Given the description of an element on the screen output the (x, y) to click on. 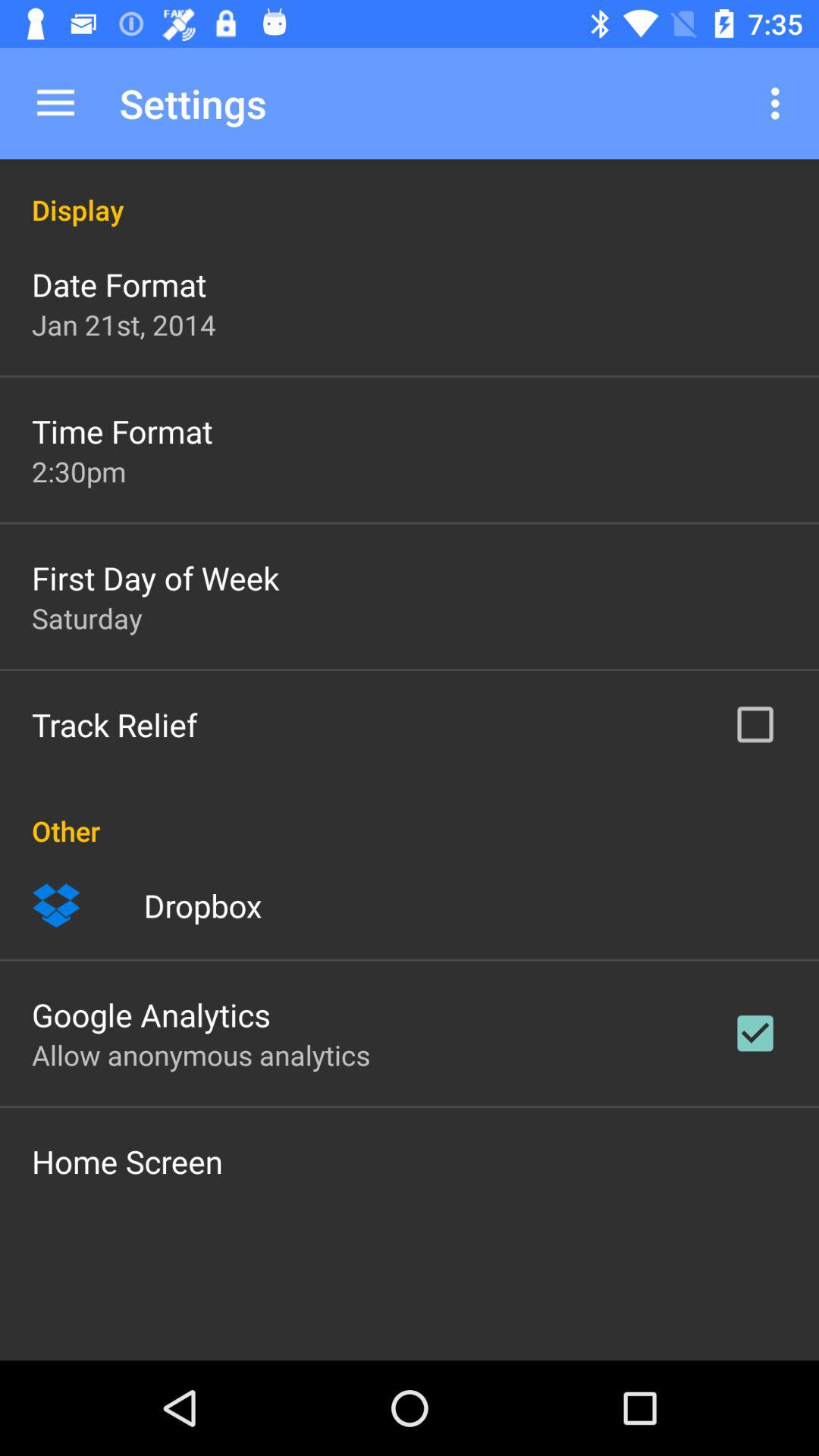
tap the item next to settings app (55, 103)
